Given the description of an element on the screen output the (x, y) to click on. 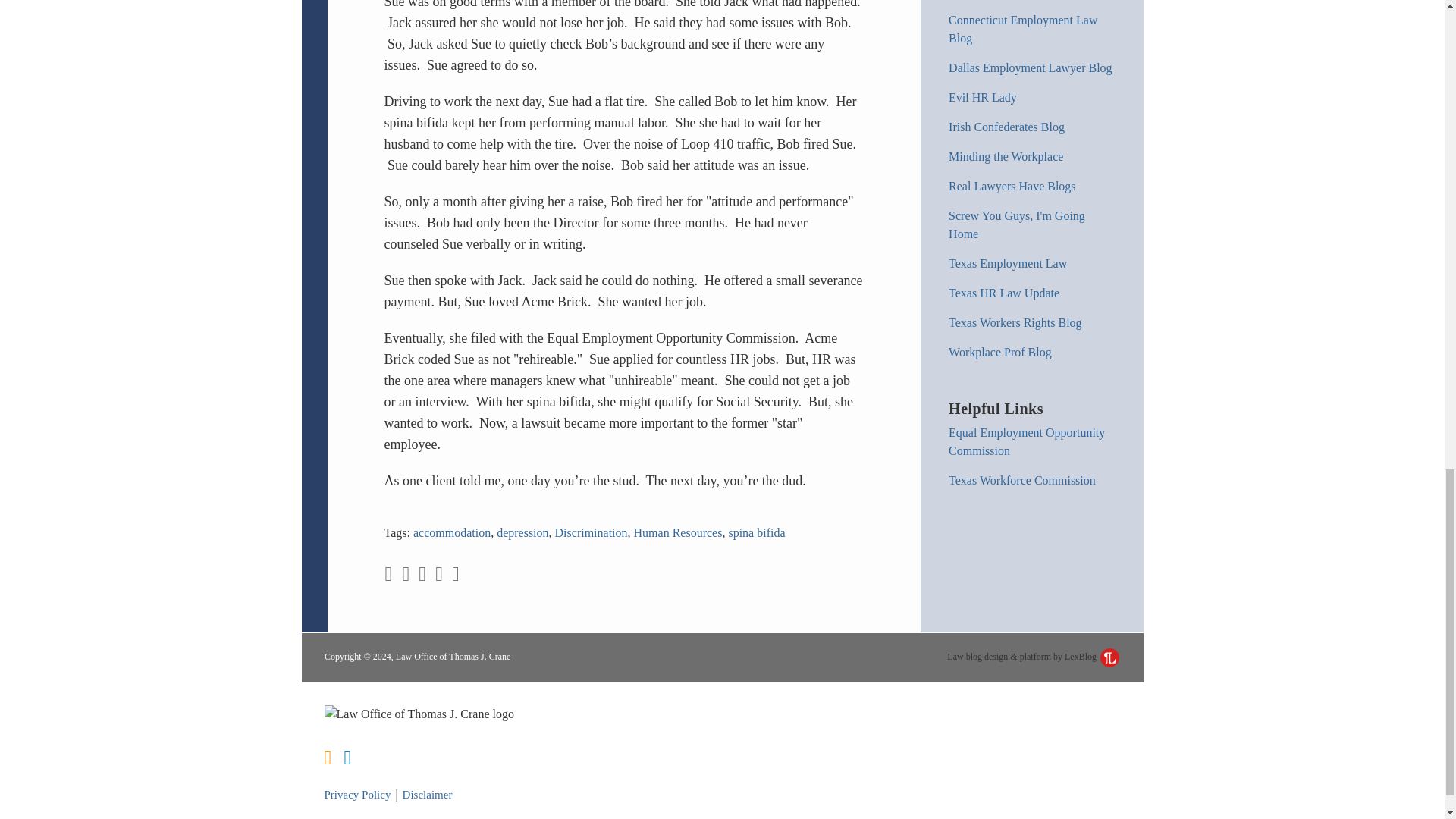
Dallas Employment Lawyer Blog (1030, 67)
Human Resources (677, 532)
LexBlog Logo (1109, 657)
spina bifida (756, 532)
Screw You Guys, I'm Going Home (1016, 224)
Evil HR Lady (982, 97)
Minding the Workplace (1005, 155)
Texas Employment Law (1008, 263)
accommodation (451, 532)
Texas workers rights (1015, 322)
